Given the description of an element on the screen output the (x, y) to click on. 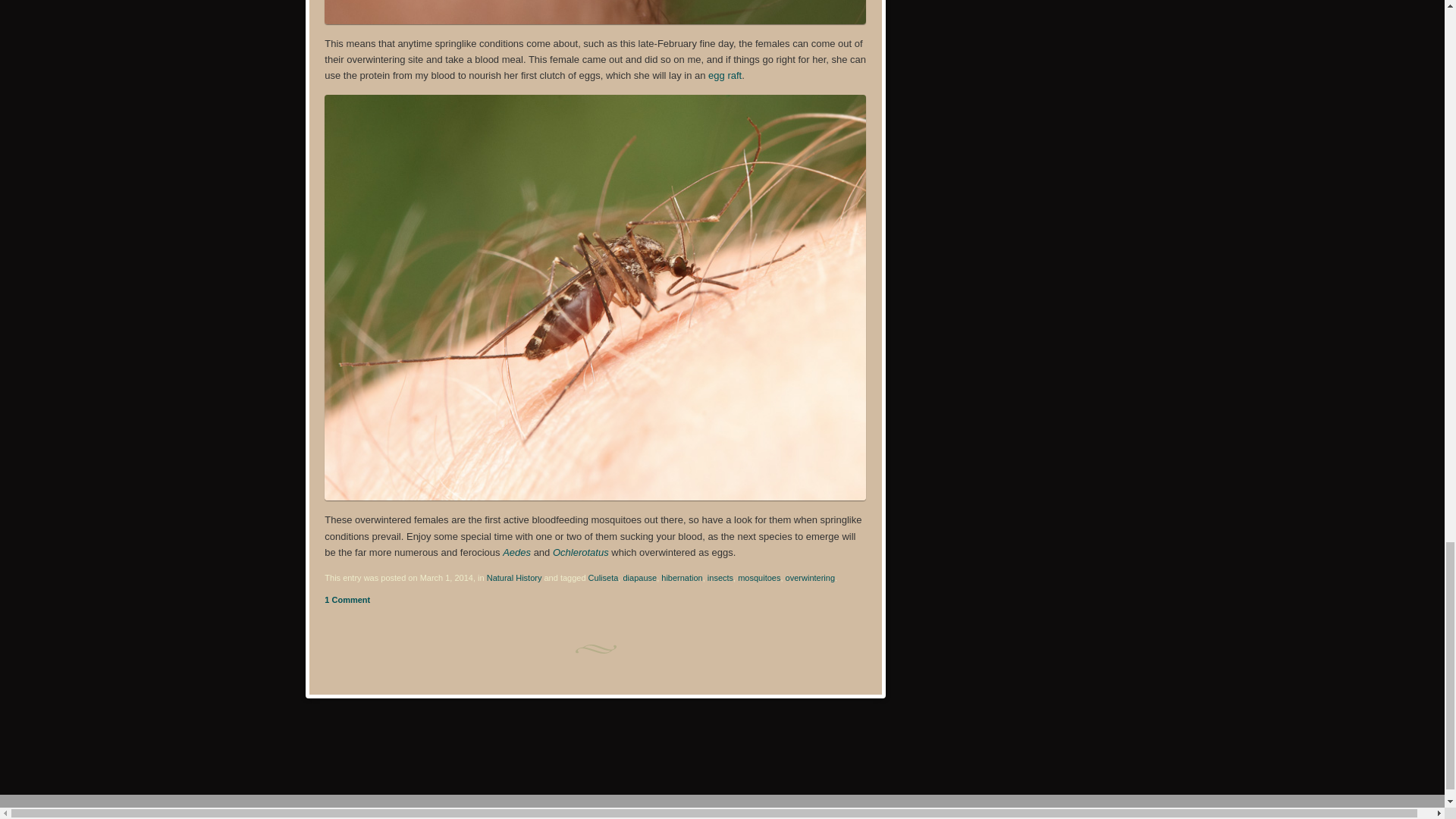
egg raft (724, 75)
insects (720, 577)
Culiseta (603, 577)
mosquitoes (759, 577)
Ochlerotatus (580, 552)
hibernation (681, 577)
diapause (639, 577)
Semantic Personal Publishing Platform (108, 810)
overwintering (810, 577)
Natural History (513, 577)
Aedes (516, 552)
1 Comment (346, 599)
